Given the description of an element on the screen output the (x, y) to click on. 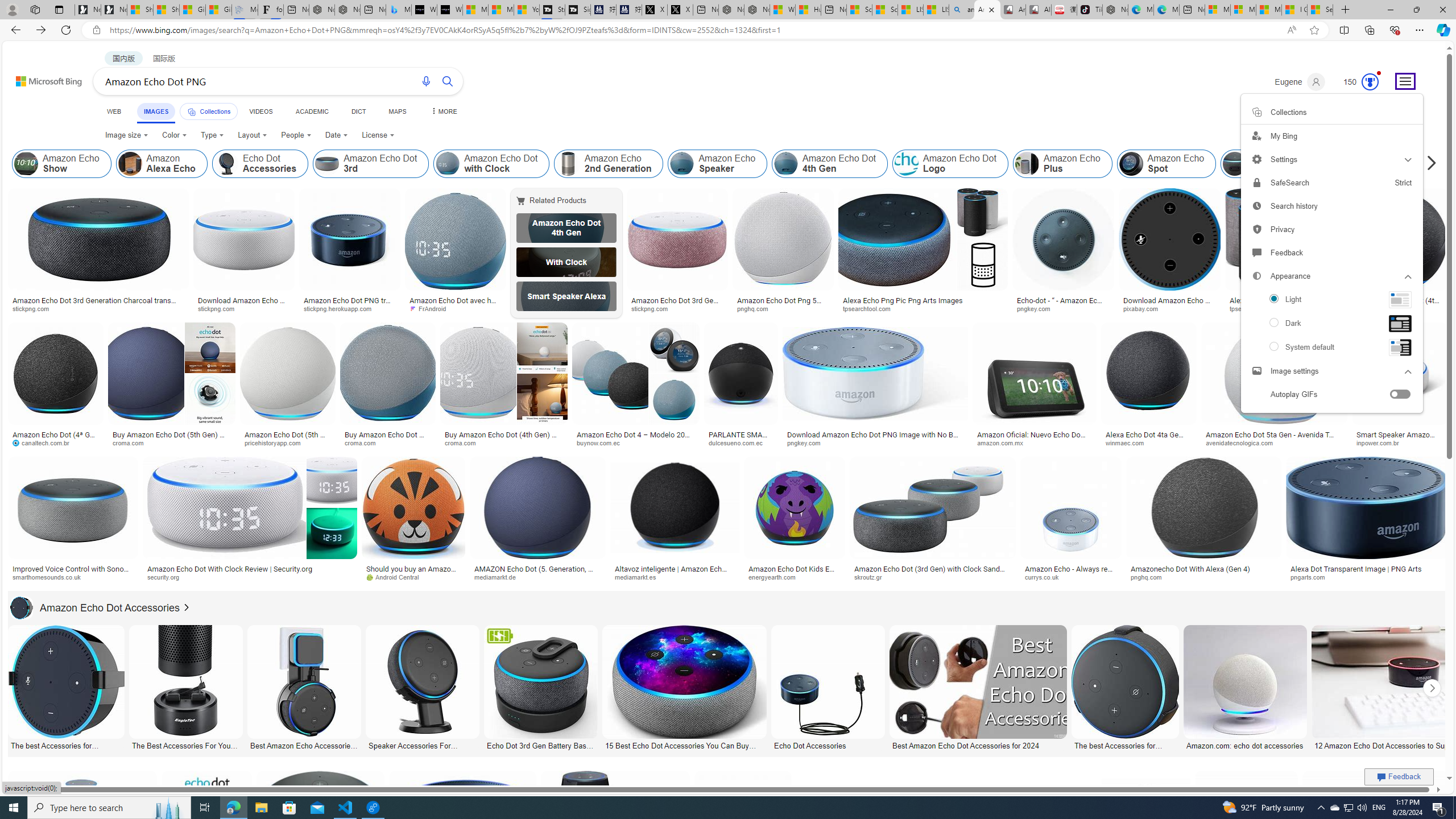
To get missing image descriptions, open the context menu. (1400, 299)
Echo Dot Accessories (828, 744)
Amazon Echo Dot PNG transparente - StickPNG (349, 303)
Alexa Dot Transparent Image | PNG Artspngarts.comSave (1366, 521)
DICT (357, 111)
security.org (249, 576)
security.org (167, 576)
With Clock (565, 261)
